Given the description of an element on the screen output the (x, y) to click on. 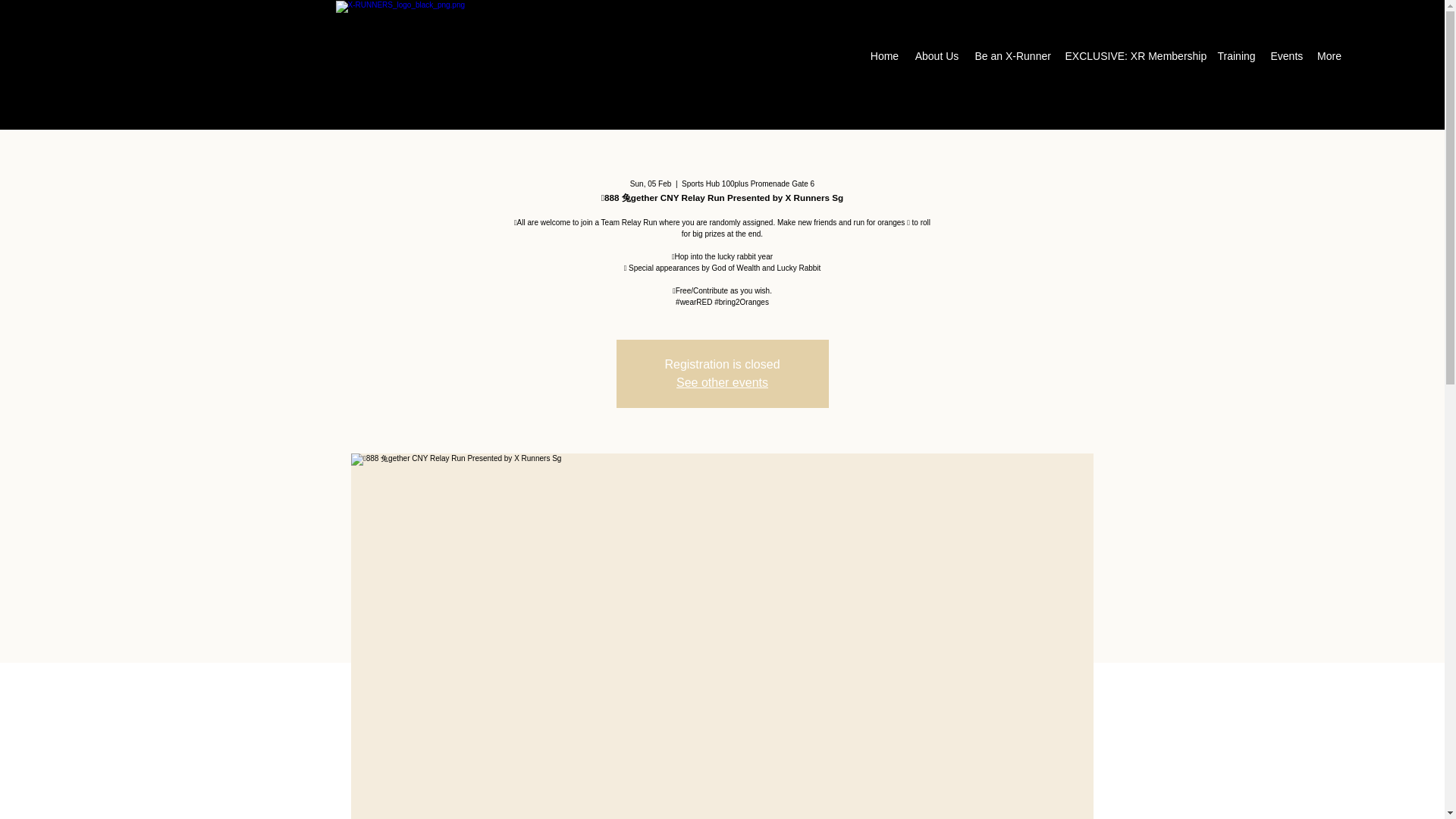
See other events (722, 382)
Training (1236, 55)
Be an X-Runner (1013, 55)
About Us (937, 55)
EXCLUSIVE: XR Membership (1133, 55)
